Given the description of an element on the screen output the (x, y) to click on. 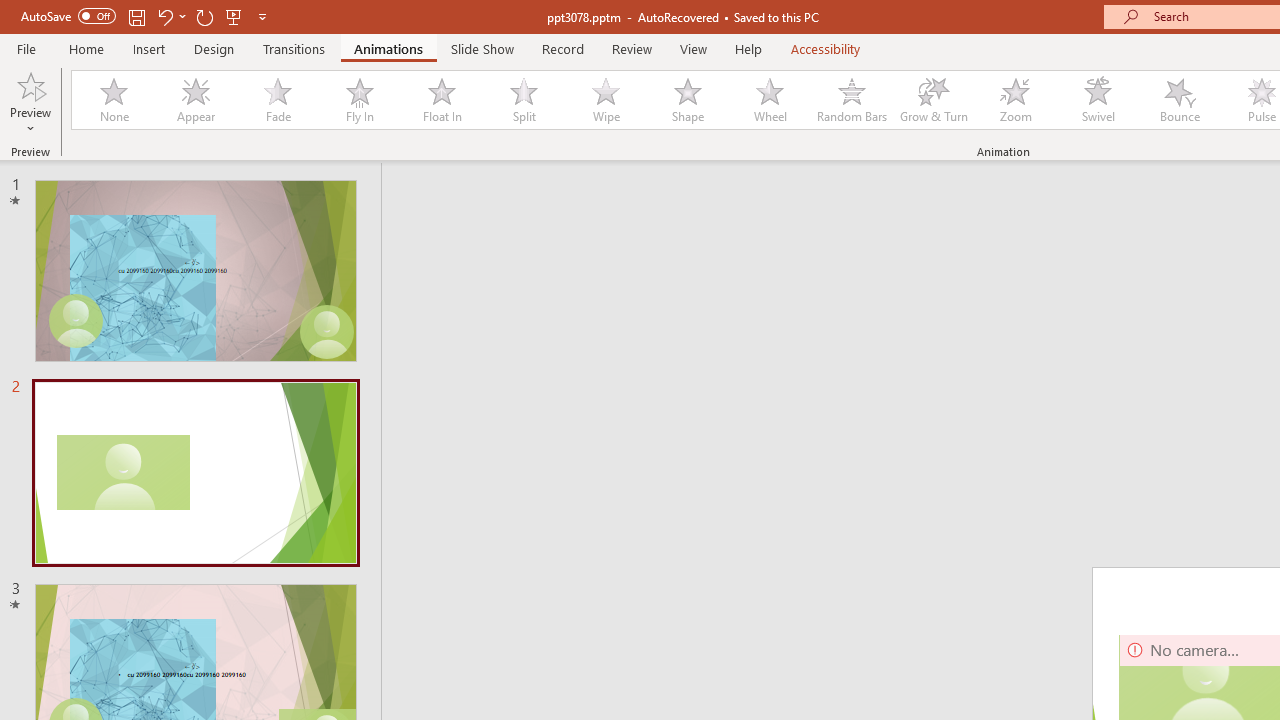
Fade (277, 100)
Bounce (1180, 100)
View (693, 48)
Record (562, 48)
Fly In (359, 100)
Random Bars (852, 100)
Transitions (294, 48)
Undo (164, 15)
Animations (388, 48)
Swivel (1098, 100)
Undo (170, 15)
